Given the description of an element on the screen output the (x, y) to click on. 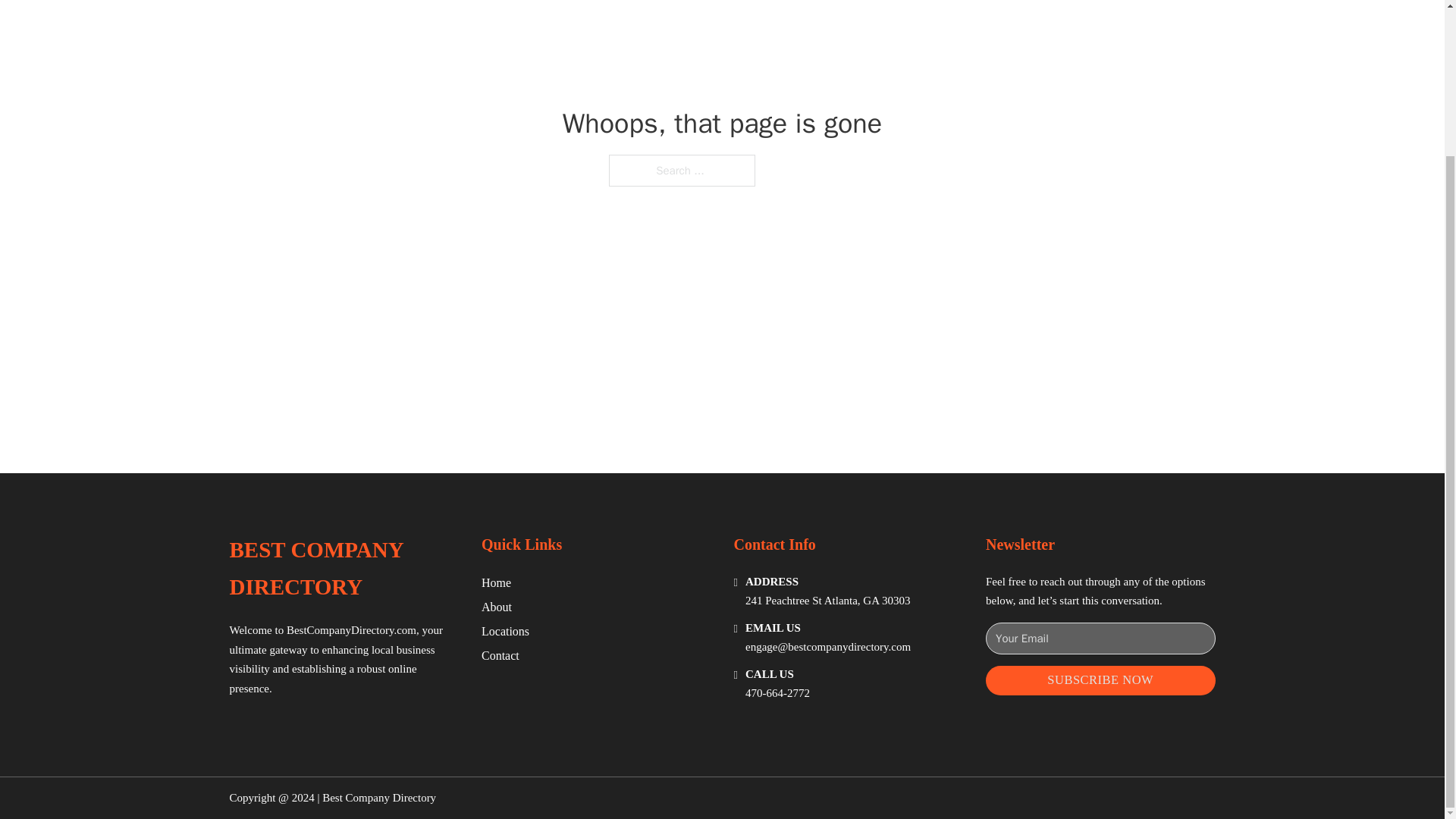
Locations (505, 630)
BestCompanyDirectory.com (351, 630)
About (496, 607)
SUBSCRIBE NOW (1100, 680)
Home (496, 582)
BEST COMPANY DIRECTORY (343, 568)
Contact (500, 655)
470-664-2772 (777, 693)
